Given the description of an element on the screen output the (x, y) to click on. 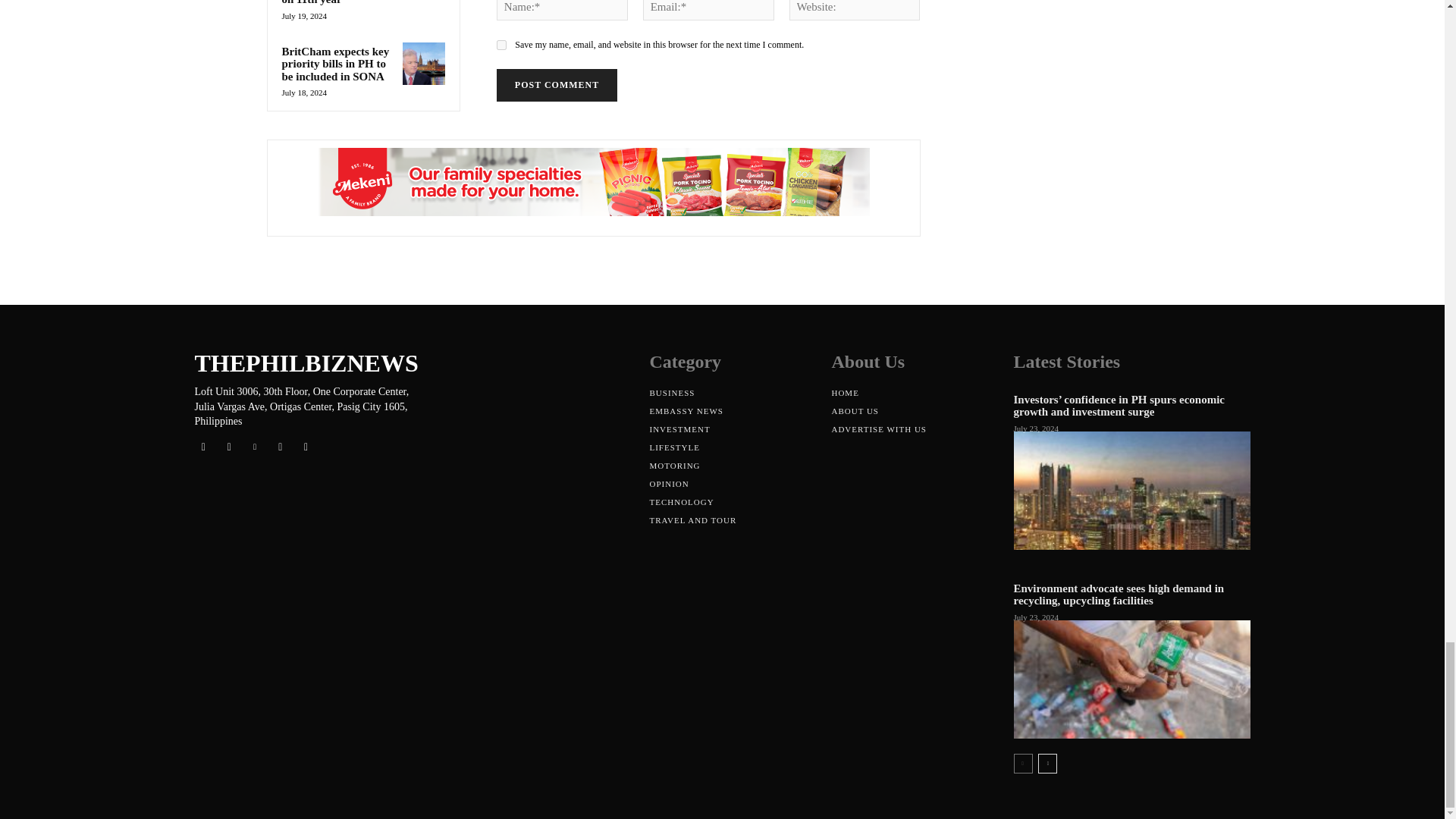
Post Comment (556, 84)
yes (501, 44)
